Given the description of an element on the screen output the (x, y) to click on. 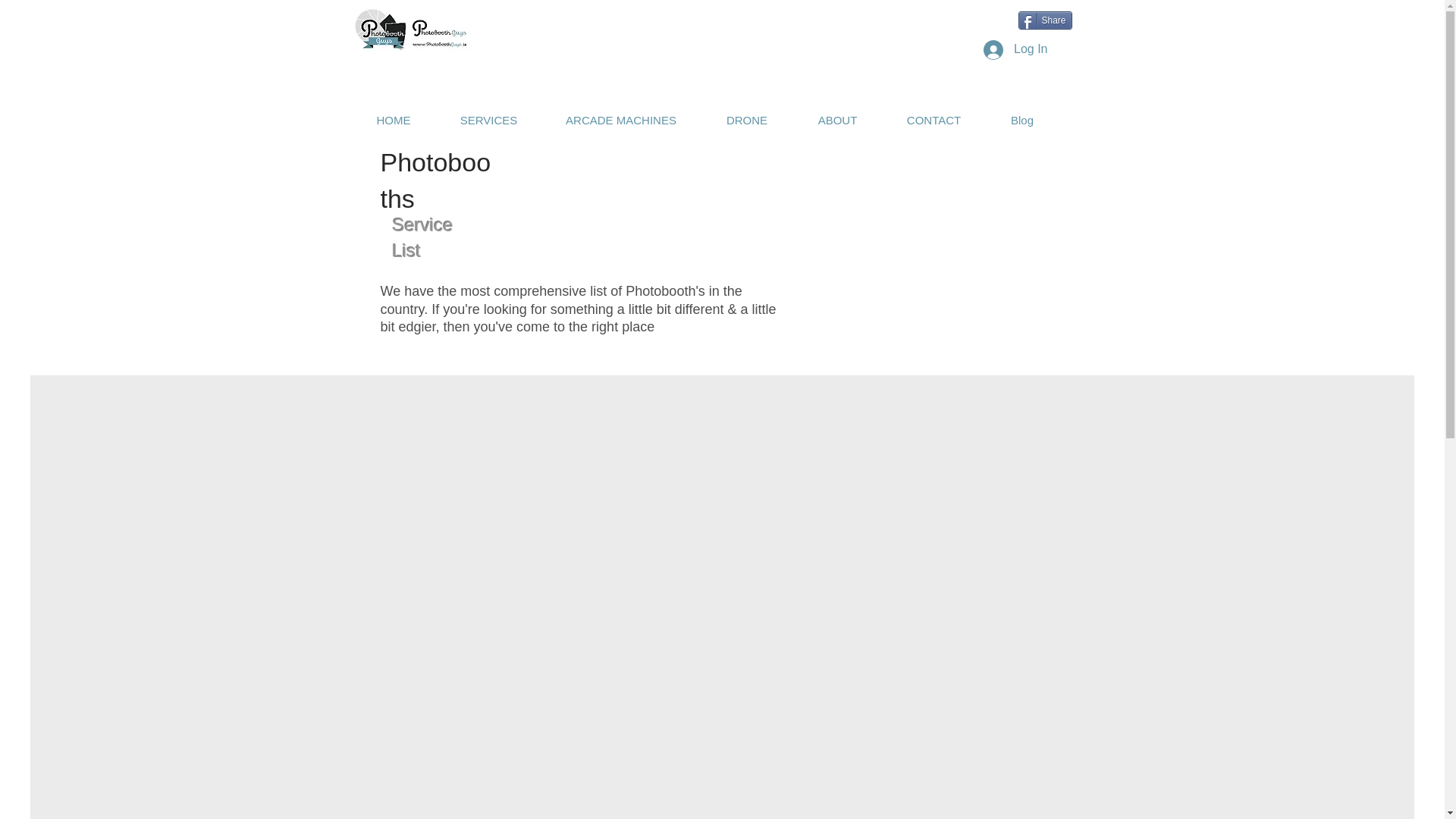
ARCADE MACHINES (621, 120)
CONTACT (933, 120)
ABOUT (837, 120)
SERVICES (488, 120)
HOME (392, 120)
Share (1044, 20)
Blog (1022, 120)
Share (1044, 20)
Log In (1015, 49)
DRONE (746, 120)
